Given the description of an element on the screen output the (x, y) to click on. 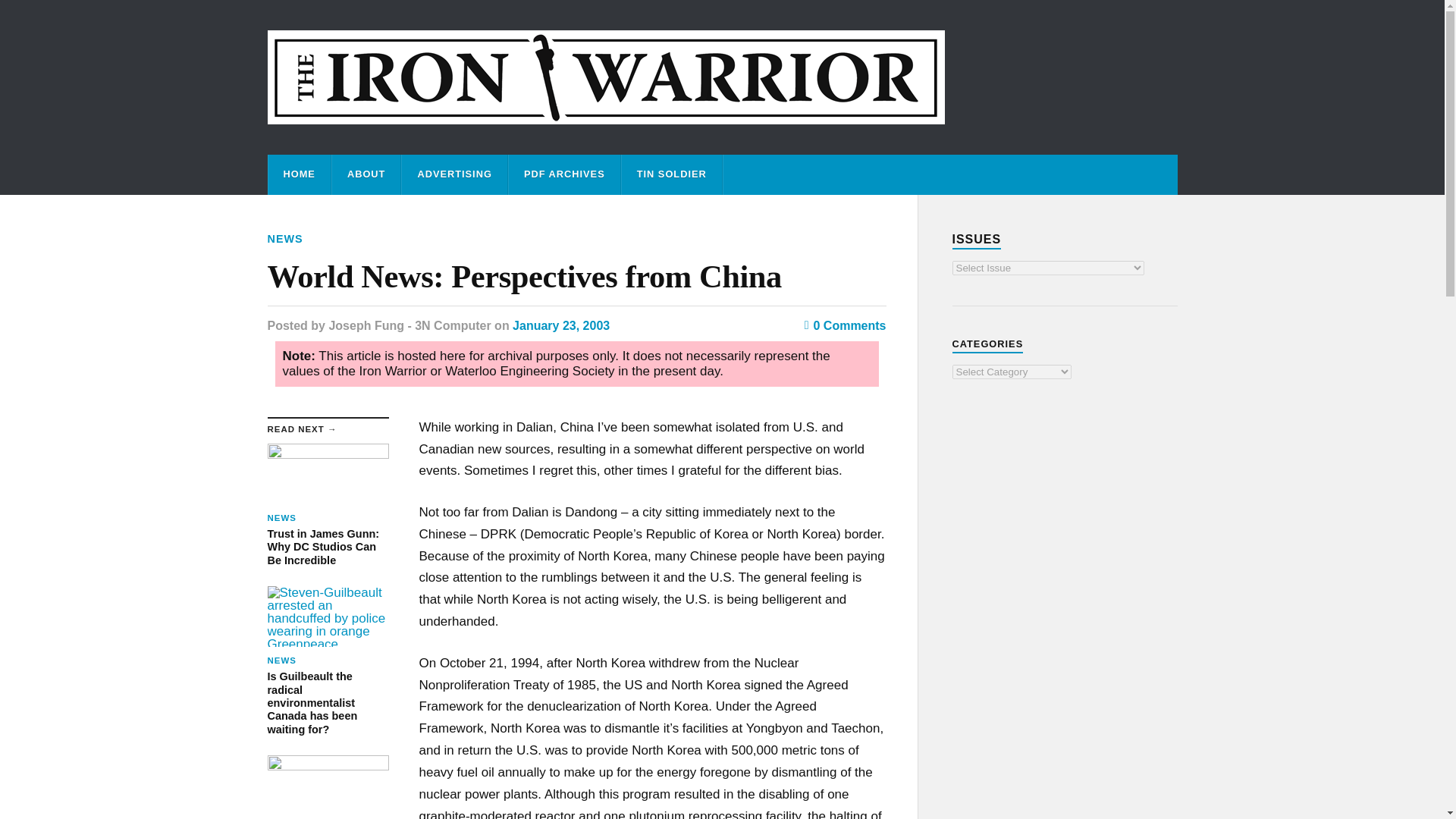
TIN SOLDIER (671, 174)
ADVERTISING (453, 174)
January 23, 2003 (561, 325)
0 Comments (327, 787)
ABOUT (845, 325)
NEWS (366, 174)
PDF ARCHIVES (327, 505)
HOME (284, 238)
